Given the description of an element on the screen output the (x, y) to click on. 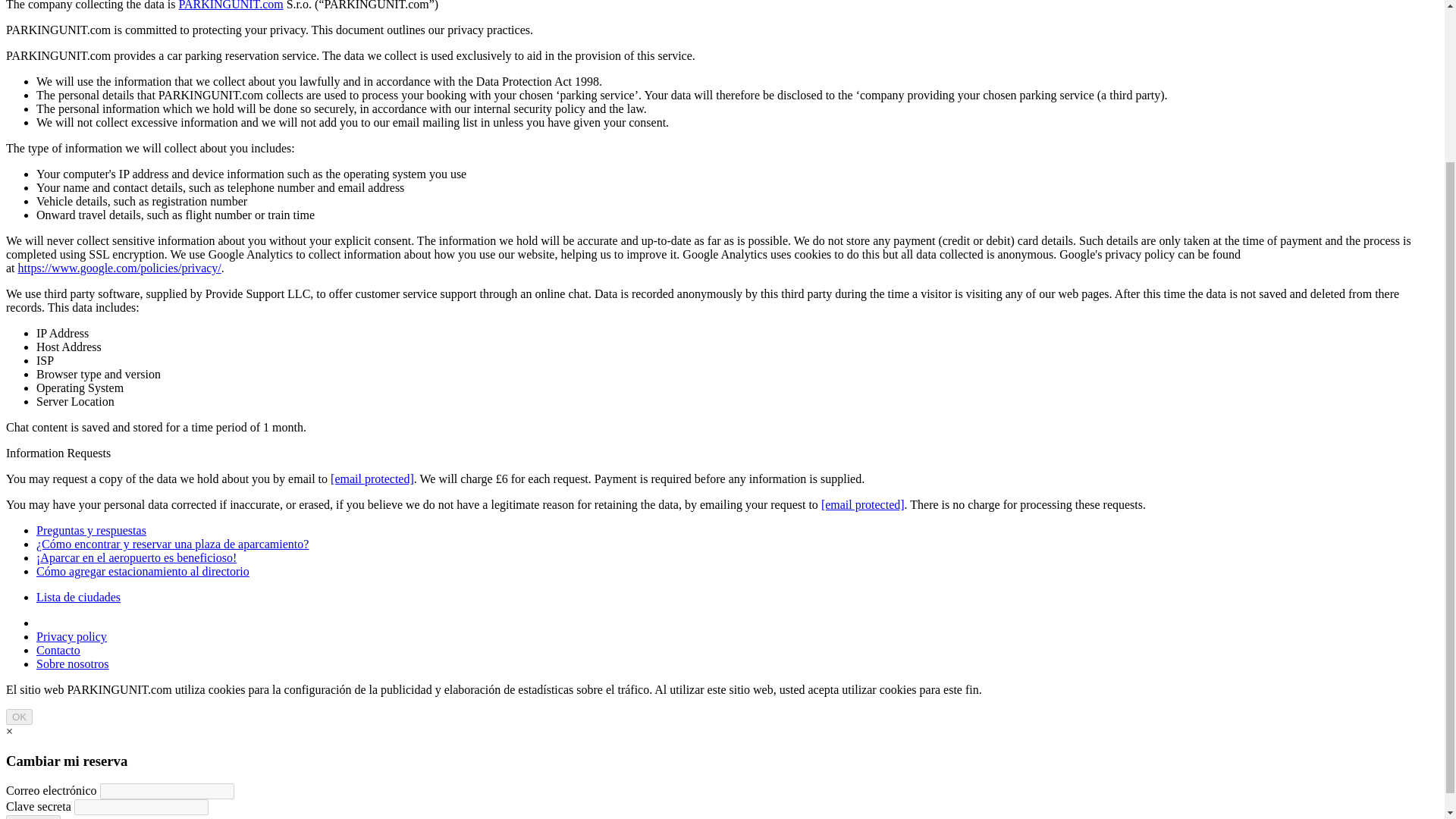
Contacto (58, 649)
Sobre nosotros (72, 663)
Privacy policy (71, 635)
OK (18, 716)
Preguntas y respuestas (91, 530)
Lista de ciudades (78, 596)
PARKINGUNIT.com (229, 5)
